Given the description of an element on the screen output the (x, y) to click on. 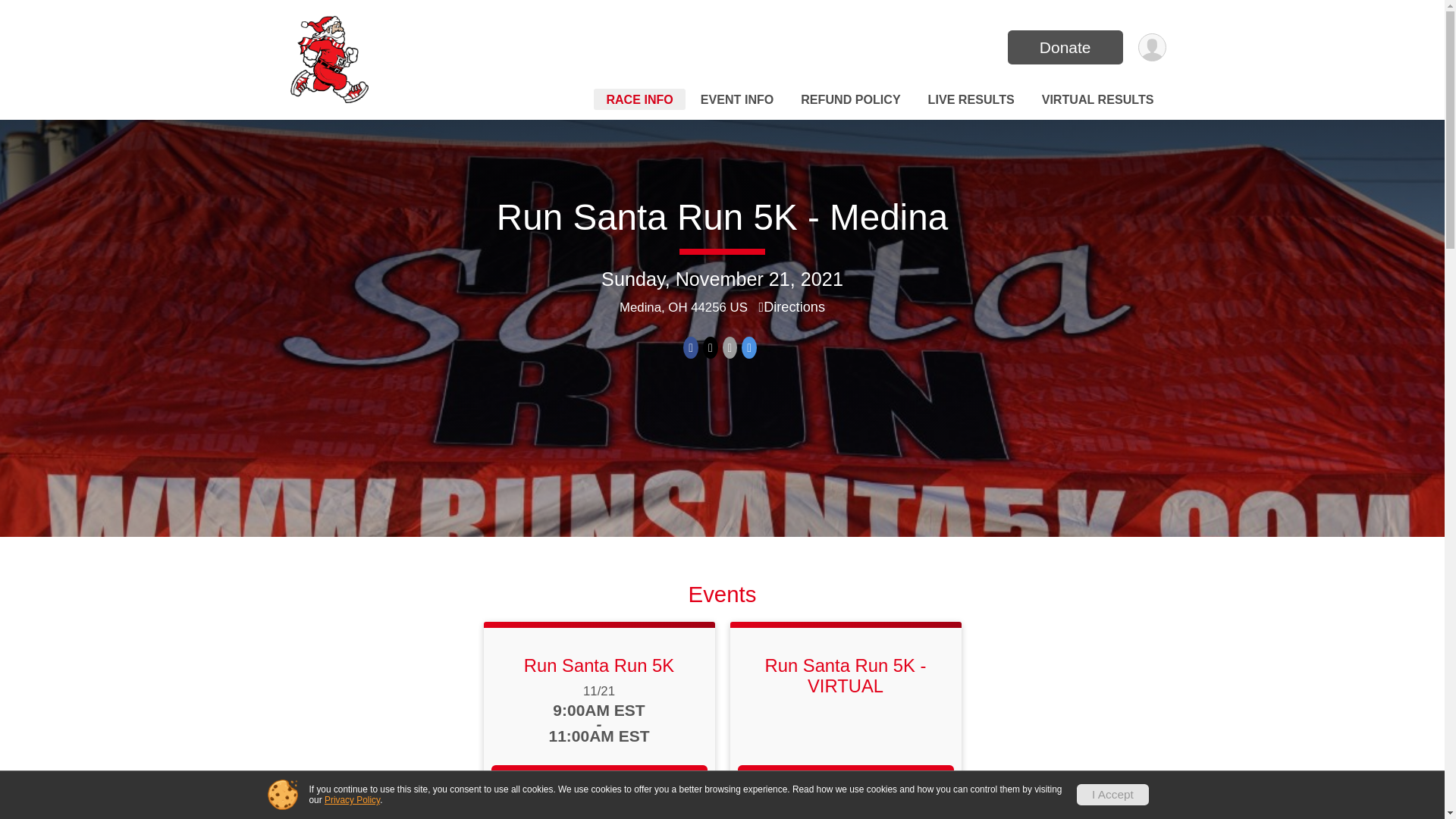
REFUND POLICY (850, 98)
EVENT INFO (737, 98)
VIRTUAL RESULTS (1097, 98)
LIVE RESULTS (971, 98)
Run Santa Run 5K - Medina (721, 217)
Directions (791, 306)
Run Santa Run 5K (599, 665)
RACE INFO (639, 98)
Donate (1064, 47)
Sign Up (599, 781)
Sign Up (844, 781)
Run Santa Run 5K - VIRTUAL (845, 675)
